Given the description of an element on the screen output the (x, y) to click on. 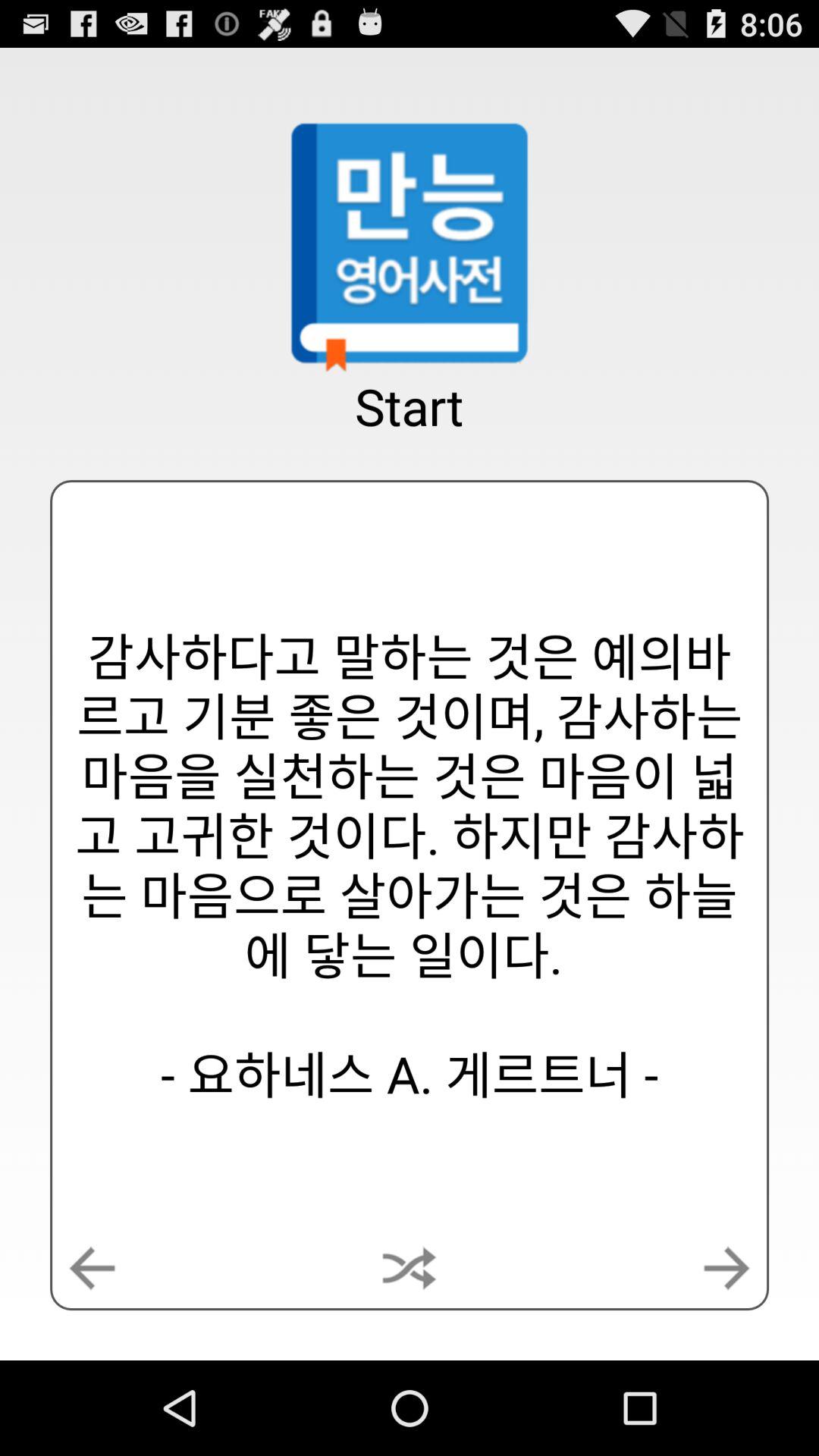
open app below the start item (409, 865)
